Given the description of an element on the screen output the (x, y) to click on. 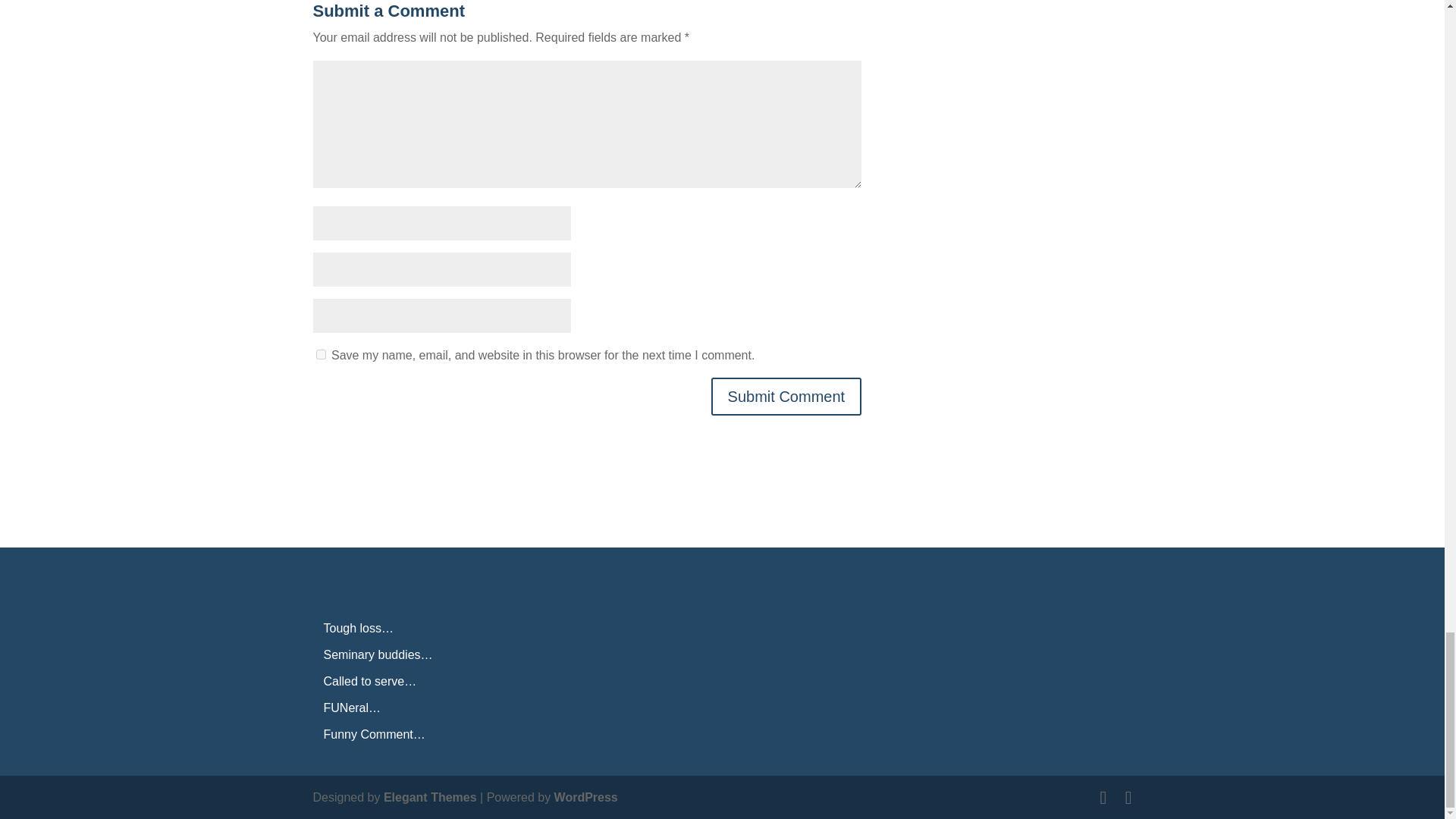
Premium WordPress Themes (430, 797)
Submit Comment (786, 396)
Submit Comment (786, 396)
yes (319, 354)
